Given the description of an element on the screen output the (x, y) to click on. 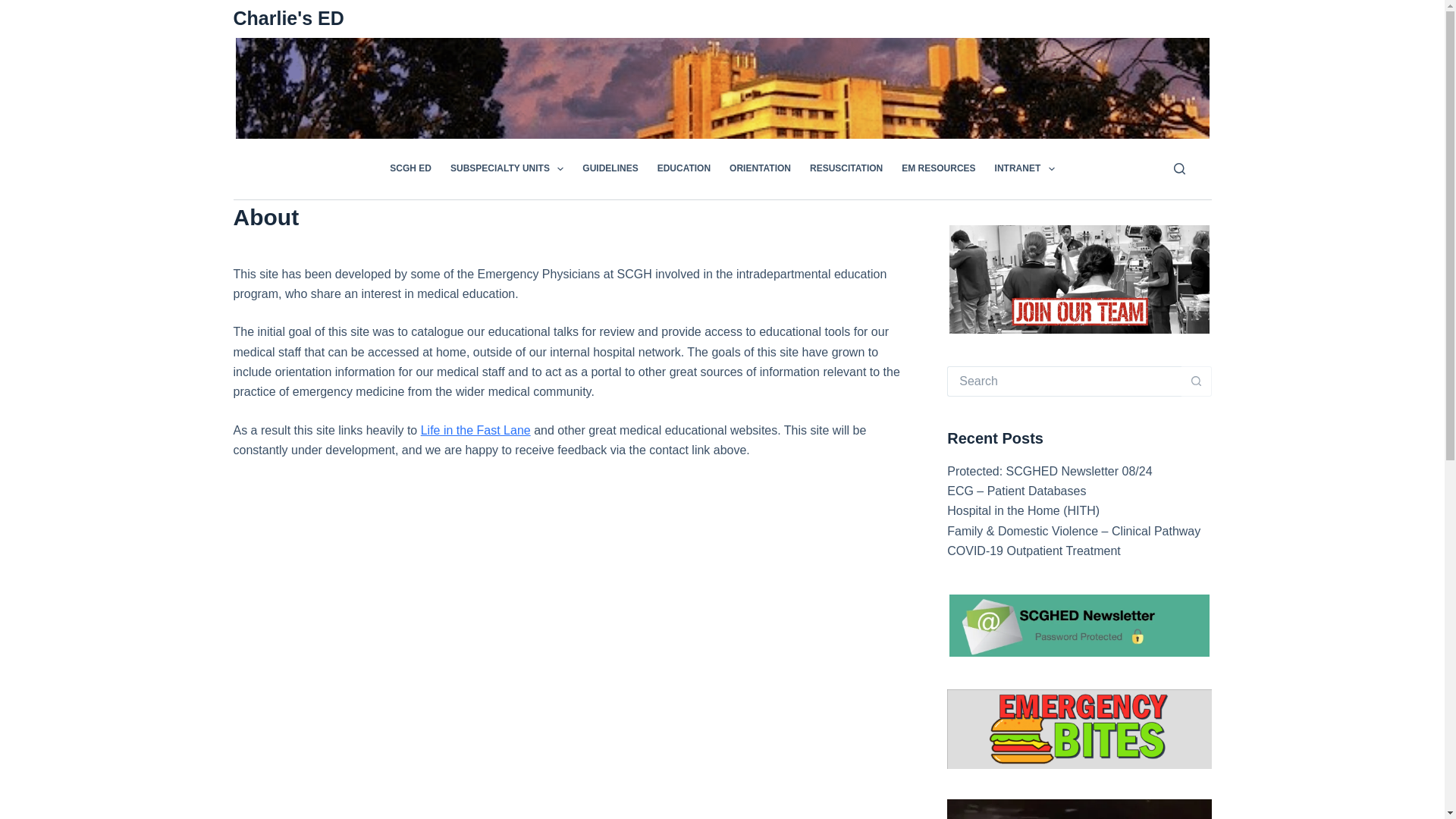
Search for... (1063, 381)
About (570, 216)
Newsletter (1079, 277)
Newsletter (1079, 624)
Skip to content (15, 7)
